Given the description of an element on the screen output the (x, y) to click on. 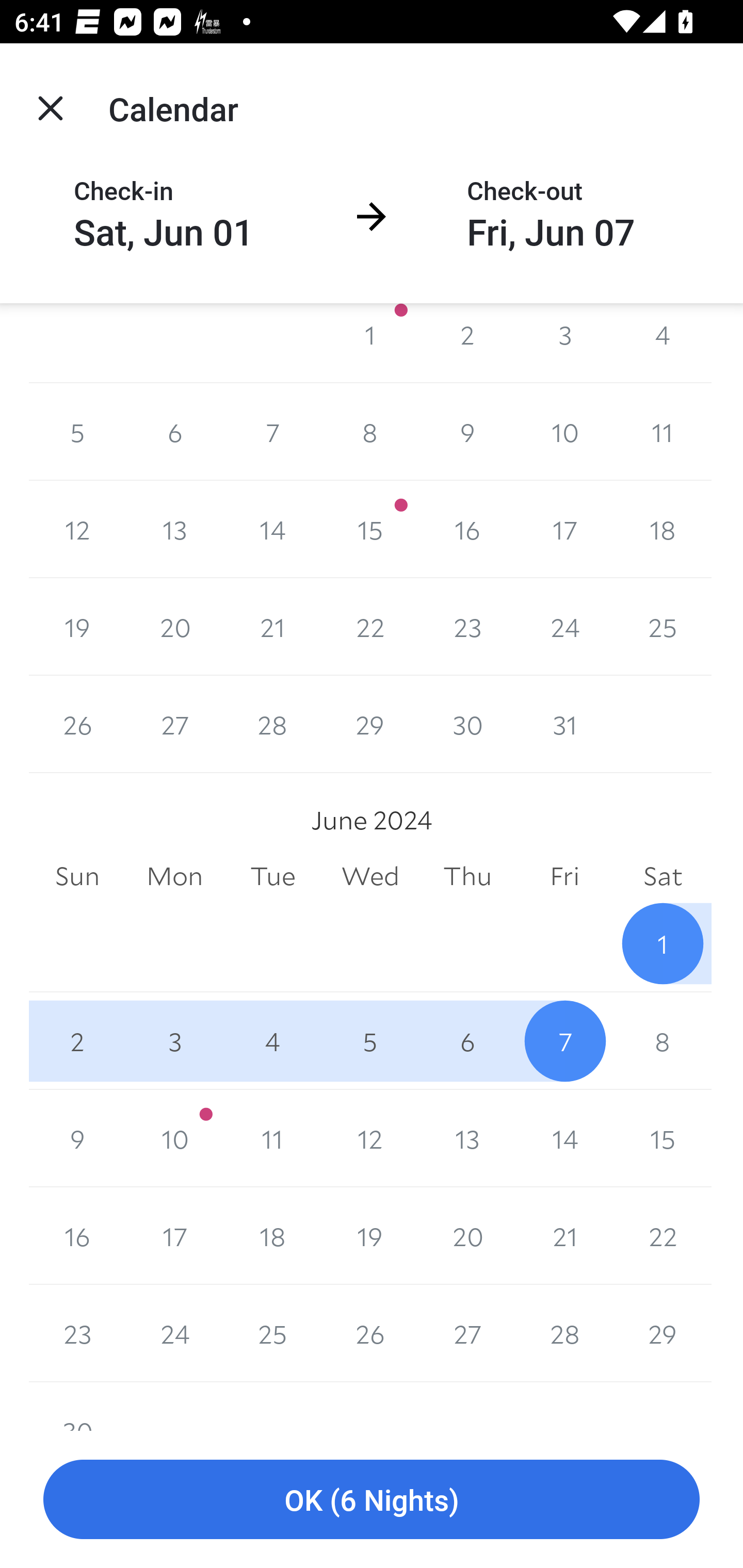
1 1 May 2024 (370, 342)
2 2 May 2024 (467, 342)
3 3 May 2024 (564, 342)
4 4 May 2024 (662, 342)
5 5 May 2024 (77, 431)
6 6 May 2024 (174, 431)
7 7 May 2024 (272, 431)
8 8 May 2024 (370, 431)
9 9 May 2024 (467, 431)
10 10 May 2024 (564, 431)
11 11 May 2024 (662, 431)
12 12 May 2024 (77, 529)
13 13 May 2024 (174, 529)
14 14 May 2024 (272, 529)
15 15 May 2024 (370, 529)
16 16 May 2024 (467, 529)
17 17 May 2024 (564, 529)
18 18 May 2024 (662, 529)
19 19 May 2024 (77, 626)
20 20 May 2024 (174, 626)
21 21 May 2024 (272, 626)
22 22 May 2024 (370, 626)
23 23 May 2024 (467, 626)
24 24 May 2024 (564, 626)
25 25 May 2024 (662, 626)
26 26 May 2024 (77, 724)
27 27 May 2024 (174, 724)
28 28 May 2024 (272, 724)
29 29 May 2024 (370, 724)
30 30 May 2024 (467, 724)
31 31 May 2024 (564, 724)
Sun (77, 876)
Mon (174, 876)
Tue (272, 876)
Wed (370, 876)
Thu (467, 876)
Fri (564, 876)
Sat (662, 876)
1 1 June 2024 (662, 943)
2 2 June 2024 (77, 1040)
3 3 June 2024 (174, 1040)
4 4 June 2024 (272, 1040)
5 5 June 2024 (370, 1040)
6 6 June 2024 (467, 1040)
7 7 June 2024 (564, 1040)
8 8 June 2024 (662, 1040)
9 9 June 2024 (77, 1137)
10 10 June 2024 (174, 1137)
11 11 June 2024 (272, 1137)
